Given the description of an element on the screen output the (x, y) to click on. 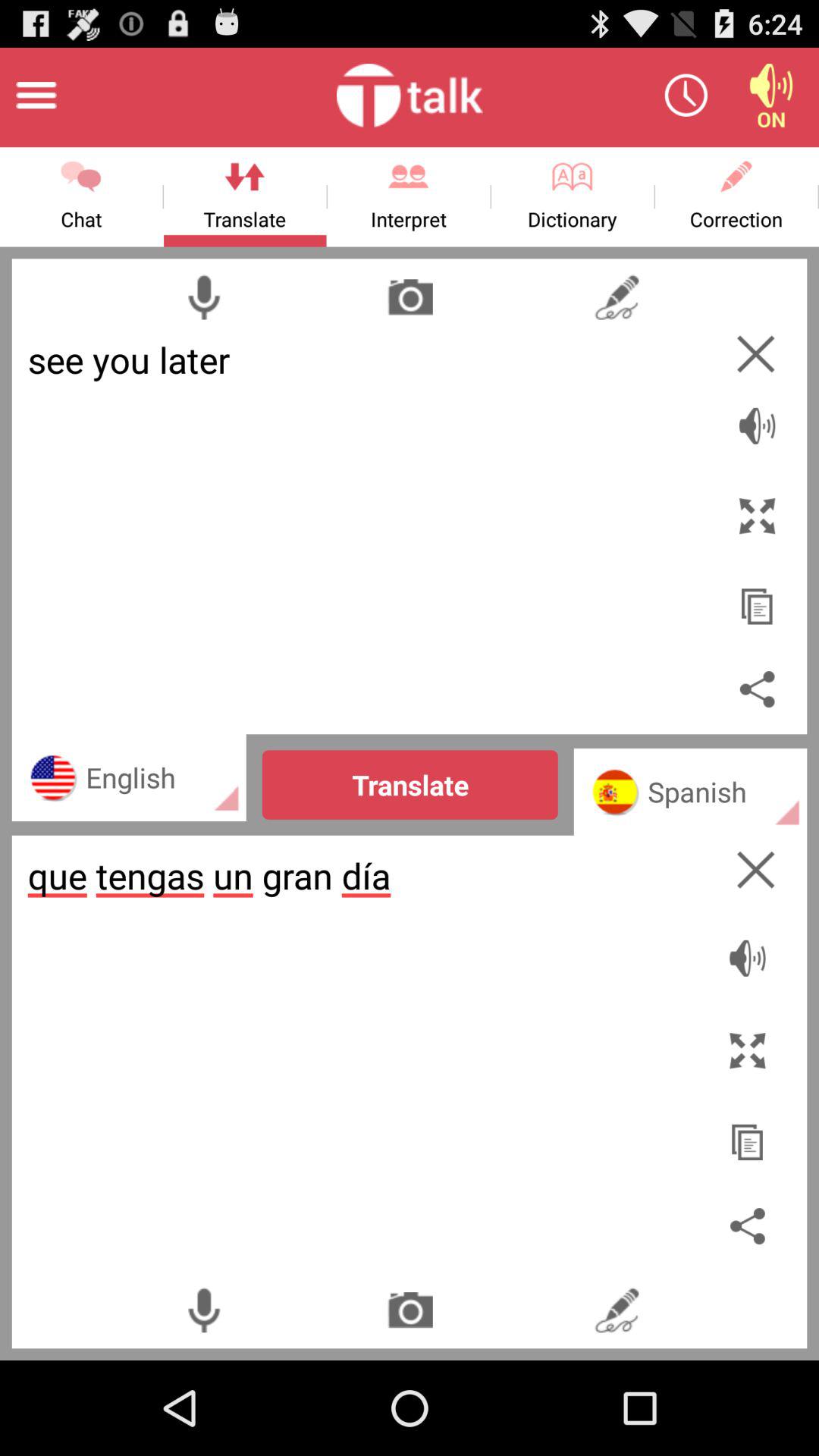
add picture (410, 297)
